Given the description of an element on the screen output the (x, y) to click on. 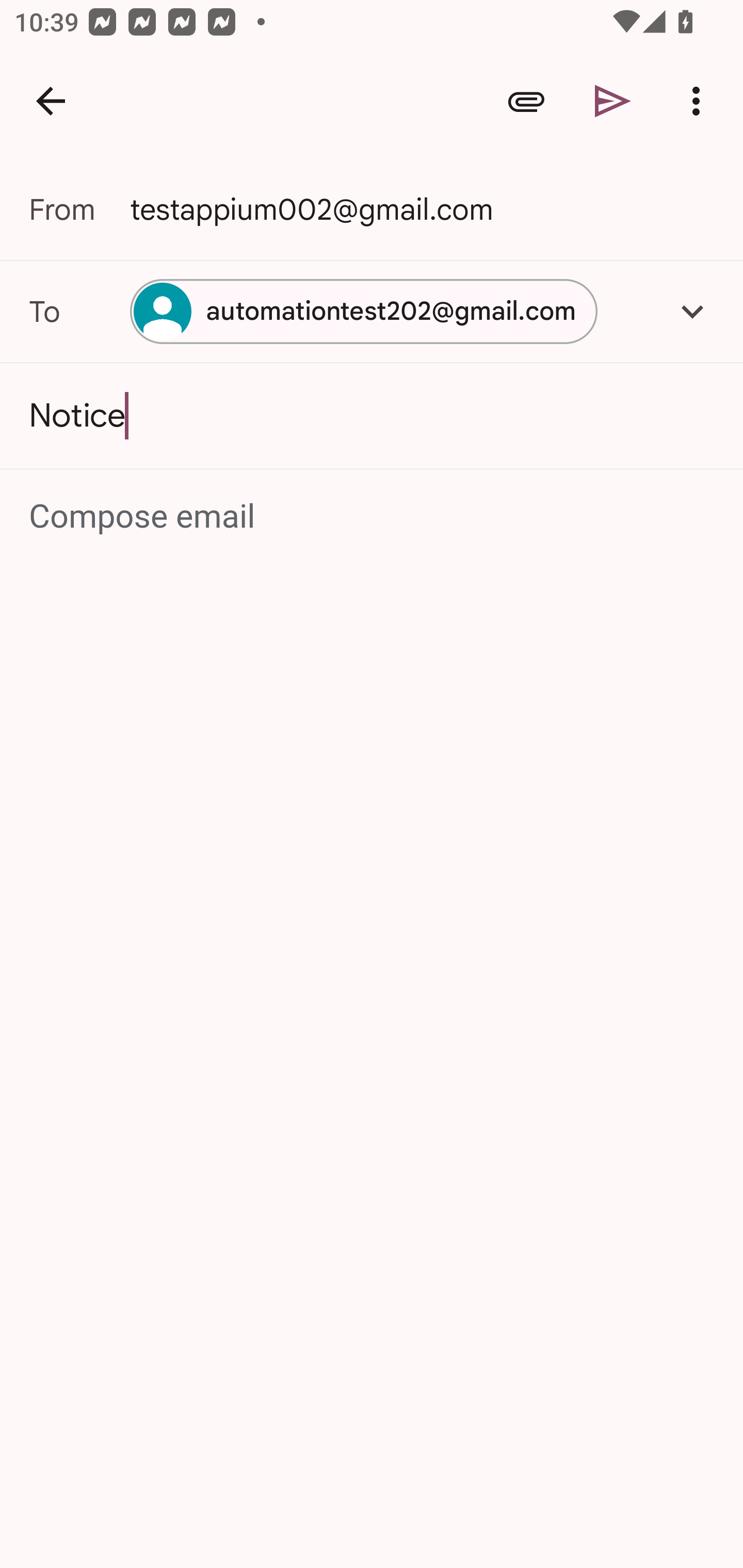
Navigate up (50, 101)
Attach file (525, 101)
Send (612, 101)
More options (699, 101)
From (79, 209)
Add Cc/Bcc (692, 311)
Notice (371, 415)
Compose email (372, 517)
